Given the description of an element on the screen output the (x, y) to click on. 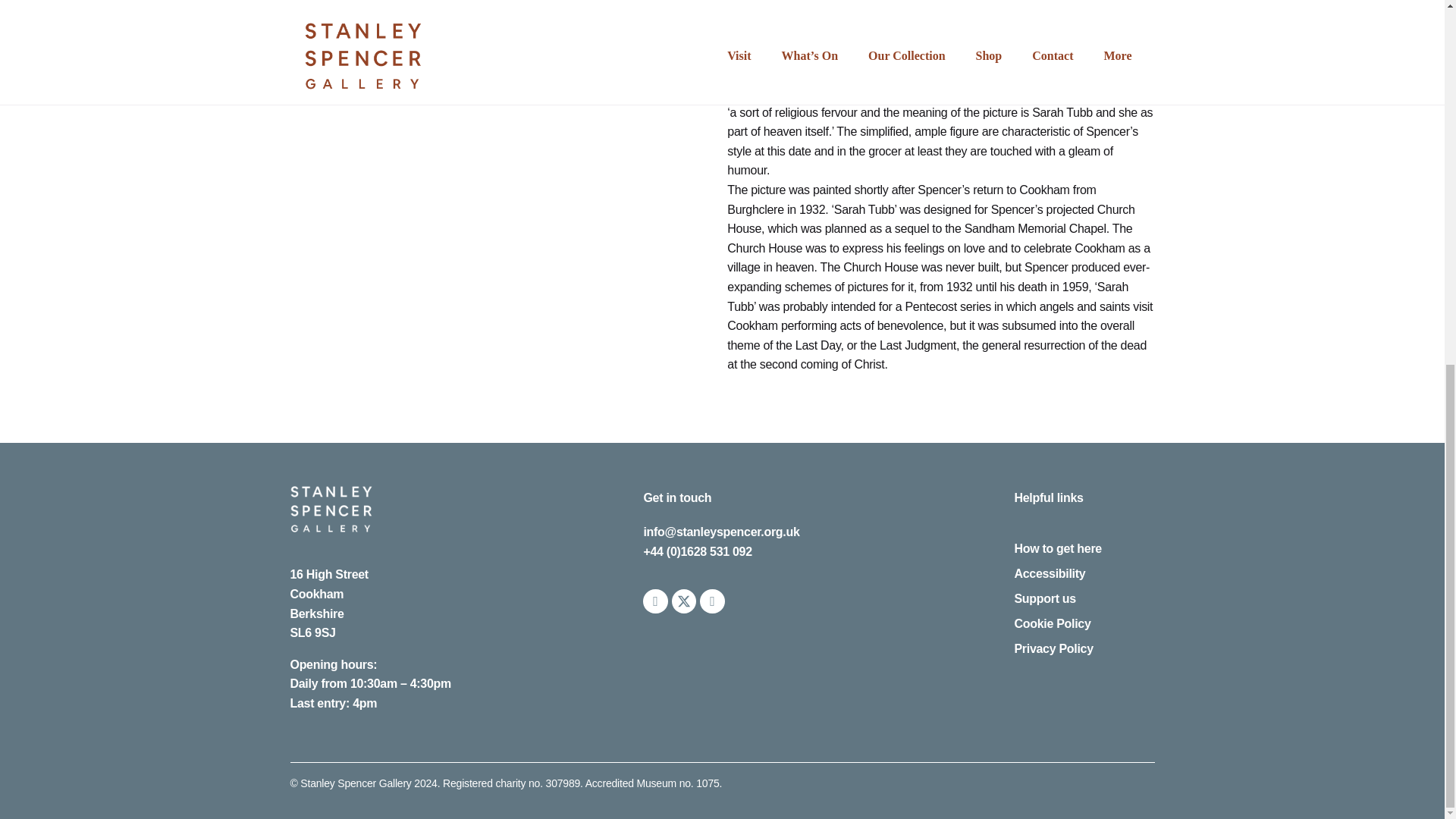
Privacy Policy (1083, 649)
Support us (1083, 598)
Cookie Policy (1083, 623)
Accessibility (1083, 573)
How to get here (1083, 548)
